Given the description of an element on the screen output the (x, y) to click on. 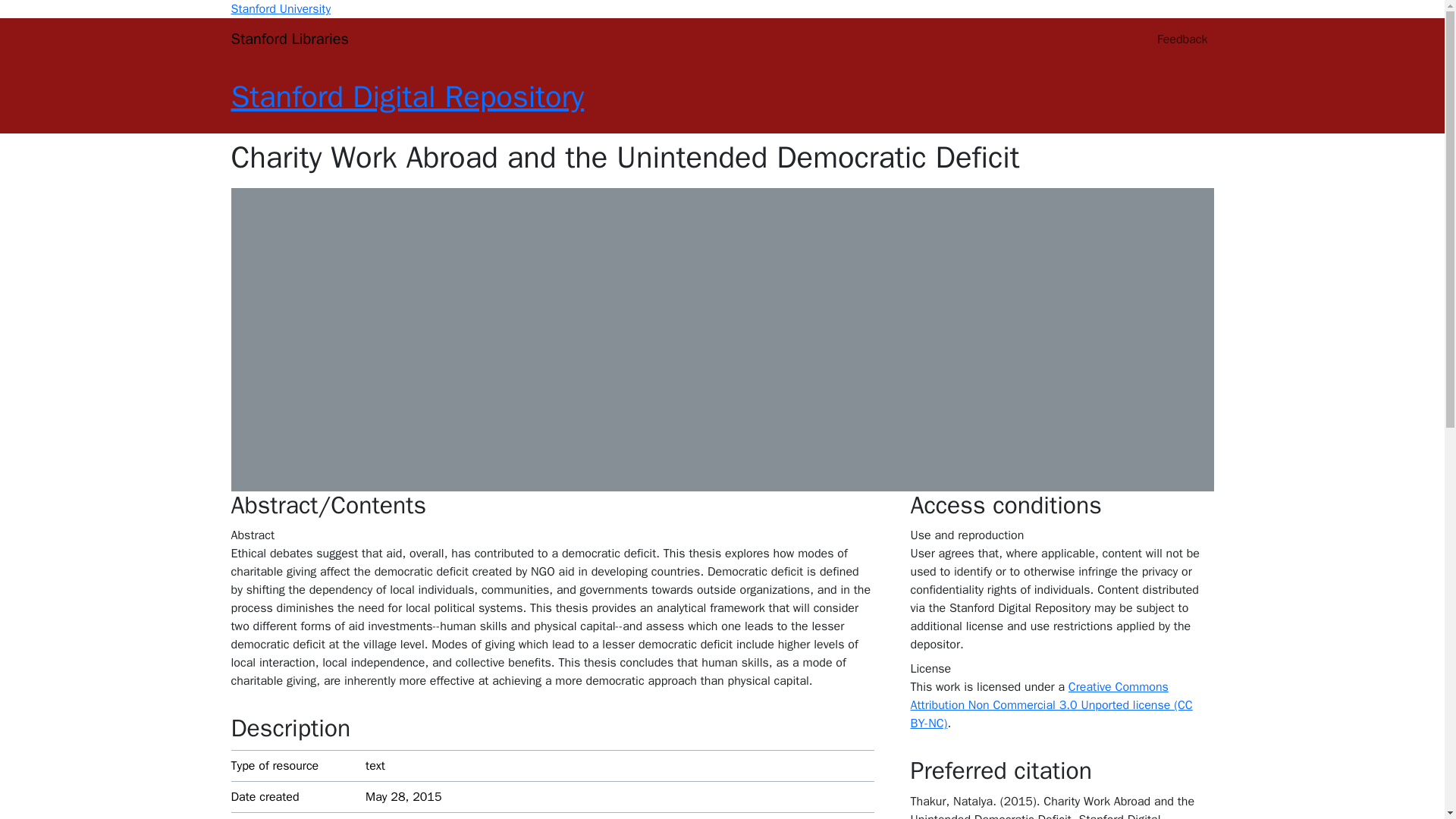
Feedback (1181, 39)
Stanford Digital Repository (406, 96)
Stanford Libraries (288, 39)
Stanford University (280, 8)
